Given the description of an element on the screen output the (x, y) to click on. 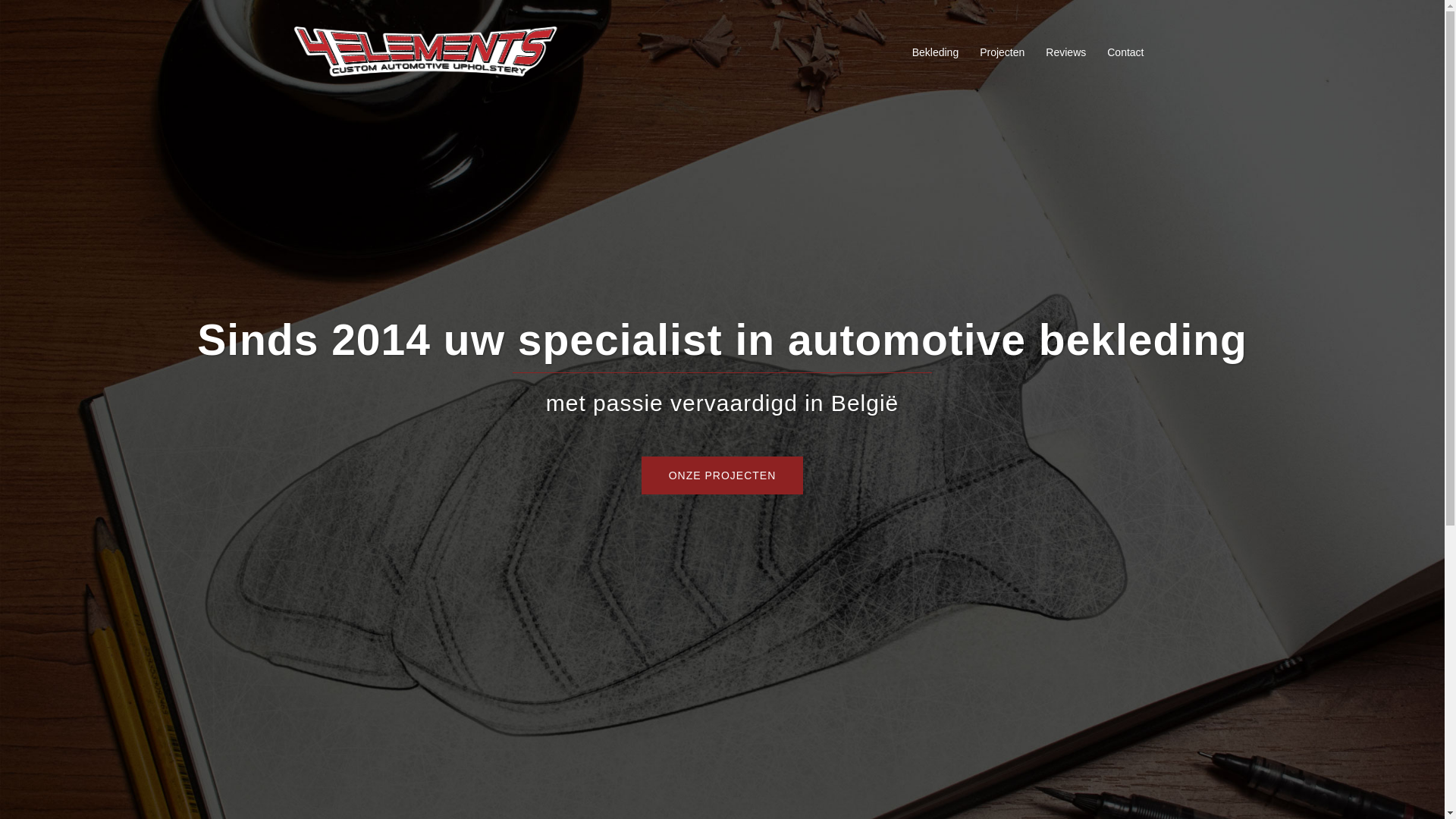
Bekleding Element type: text (935, 52)
Projecten Element type: text (1001, 52)
Reviews Element type: text (1065, 52)
ONZE PROJECTEN Element type: text (722, 475)
Contact Element type: text (1125, 52)
4Elements Bekleding Element type: hover (424, 51)
